Given the description of an element on the screen output the (x, y) to click on. 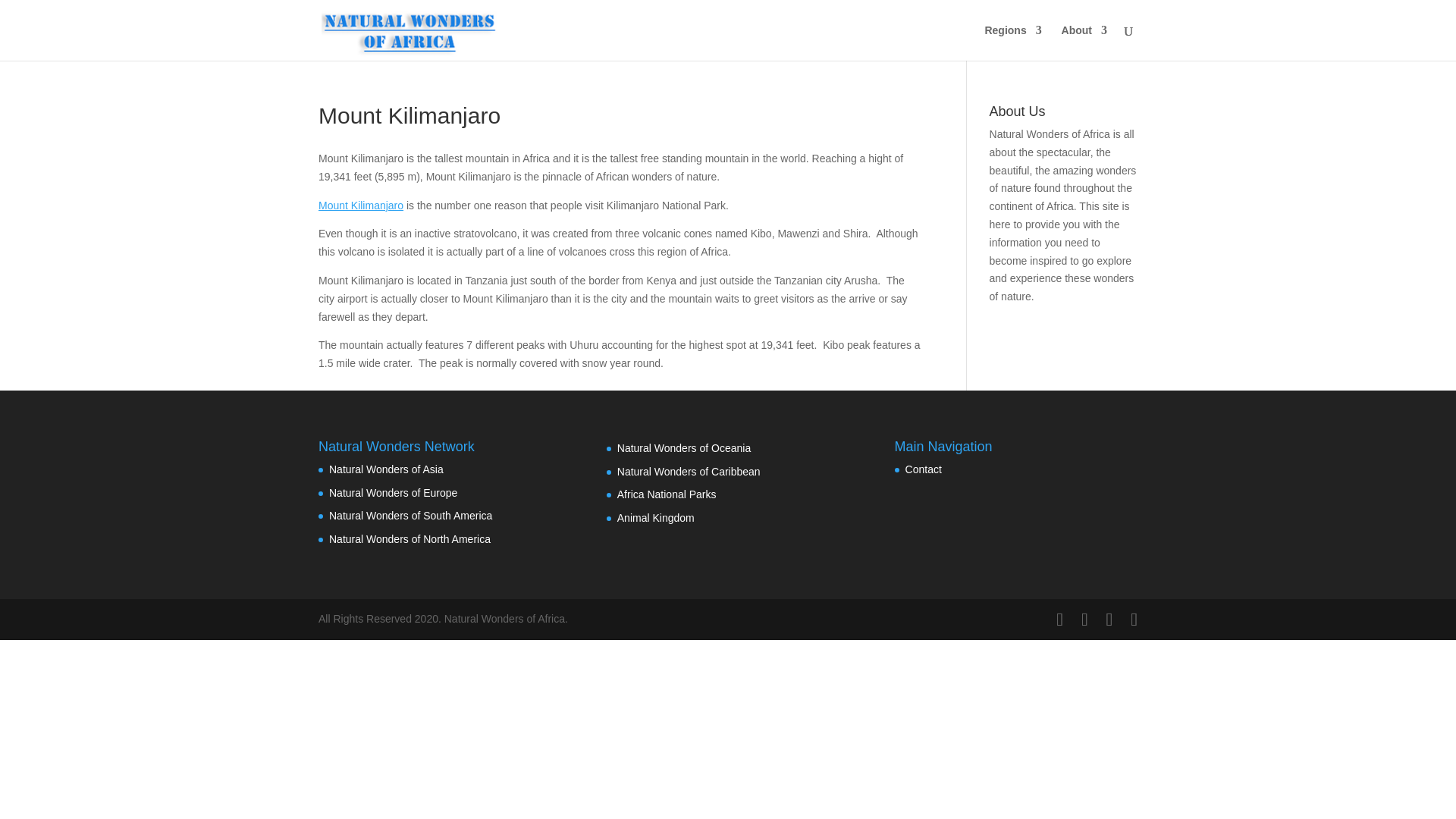
About (1083, 42)
Natural Wonders of Oceania (684, 448)
Contact (923, 469)
Natural Wonders of Caribbean (688, 471)
Natural Wonders of South America (410, 515)
Natural Wonders of Asia (386, 469)
Animal Kingdom (655, 517)
Natural Wonders of North America (409, 539)
Regions (1012, 42)
Natural Wonders of Europe (393, 492)
Mount Kilimanjaro (360, 205)
Africa National Parks (666, 494)
